Given the description of an element on the screen output the (x, y) to click on. 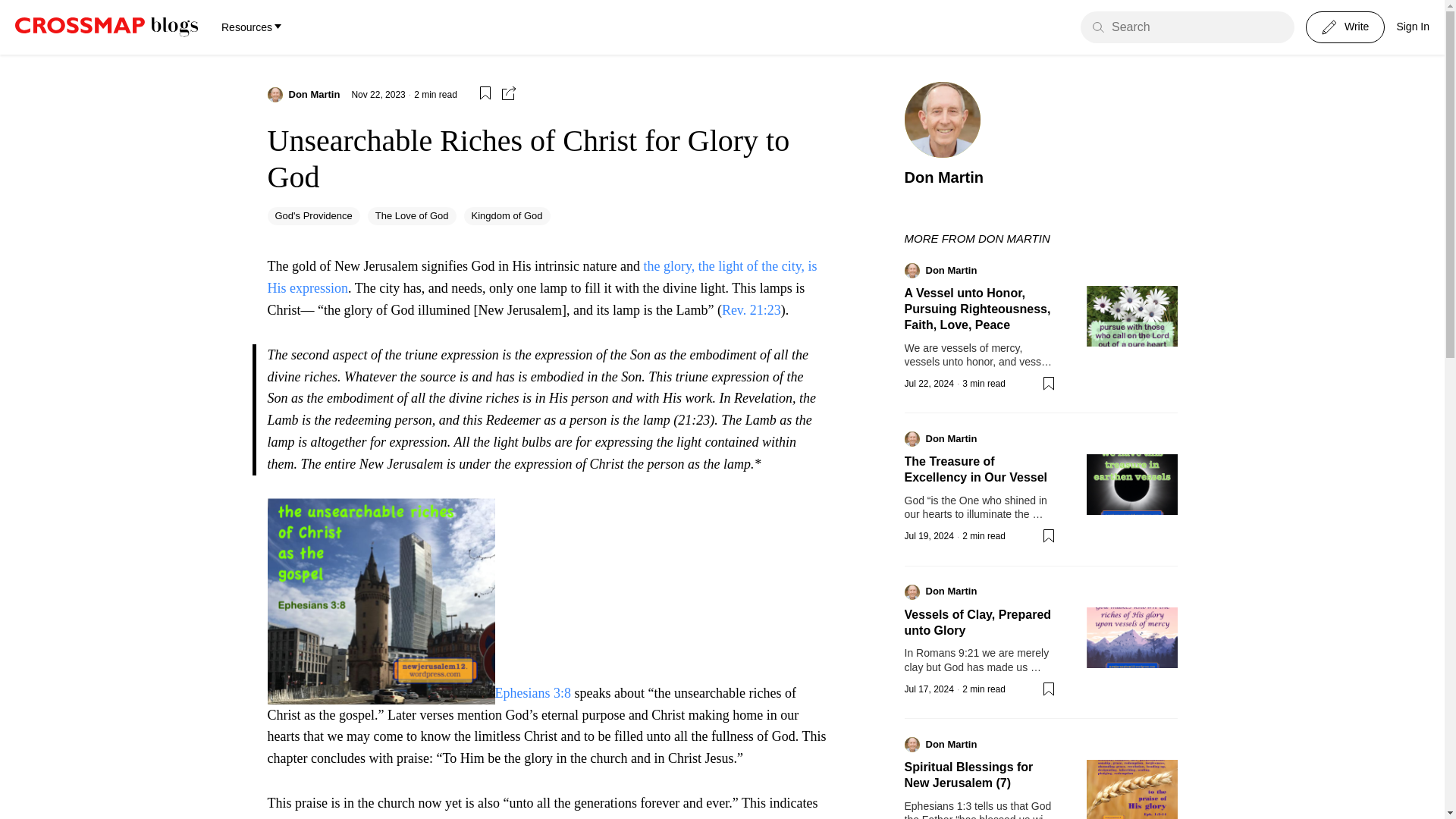
God's Providence (312, 216)
the glory, the light of the city, is His expression (541, 276)
The Love of God (412, 216)
Don Martin (313, 94)
Resources (251, 27)
Sign In (1412, 27)
Rev. 21:23 (751, 309)
Kingdom of God (507, 216)
Write (1345, 27)
Ephesians 3:8 (532, 693)
